Given the description of an element on the screen output the (x, y) to click on. 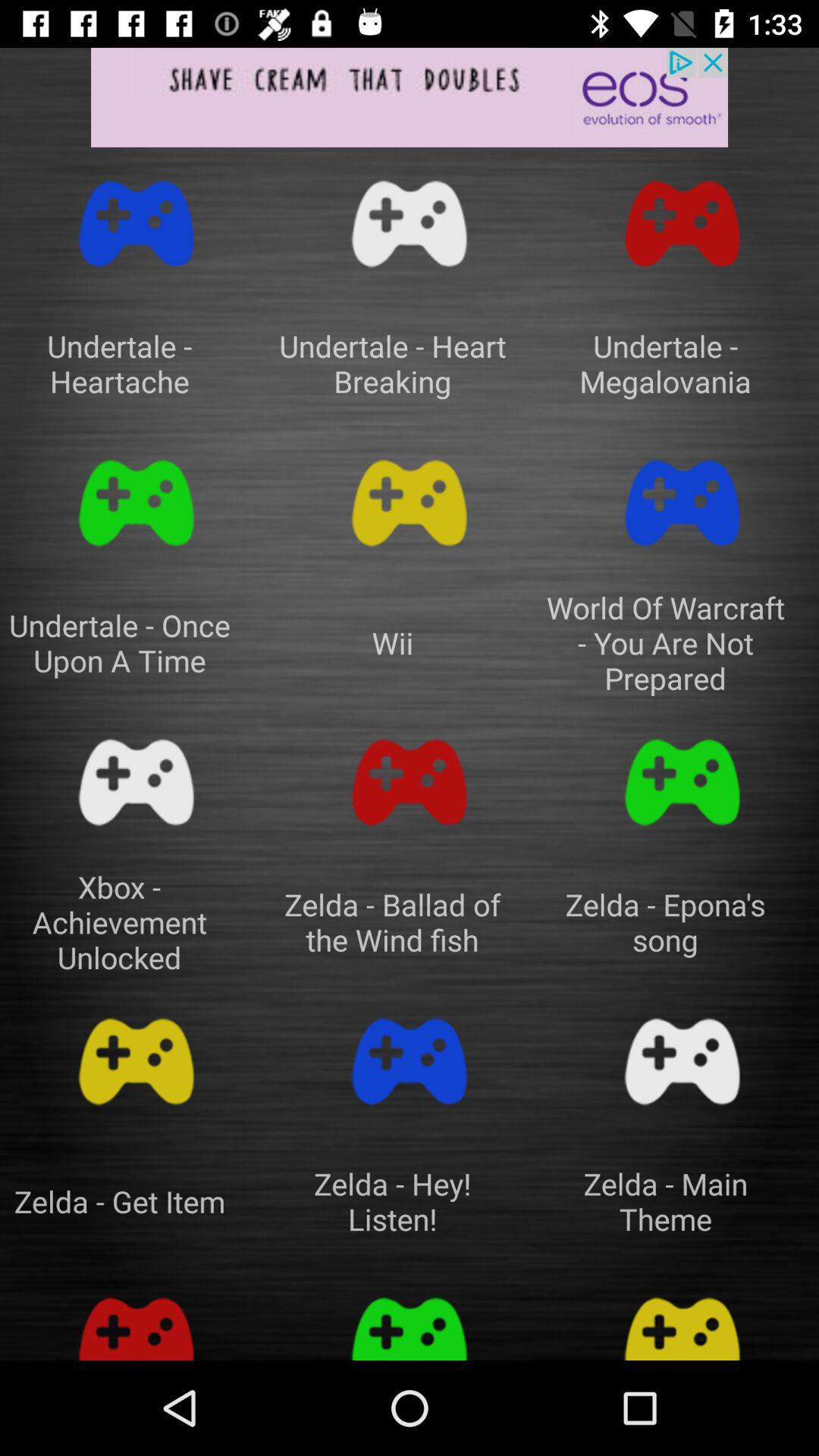
games (682, 782)
